Given the description of an element on the screen output the (x, y) to click on. 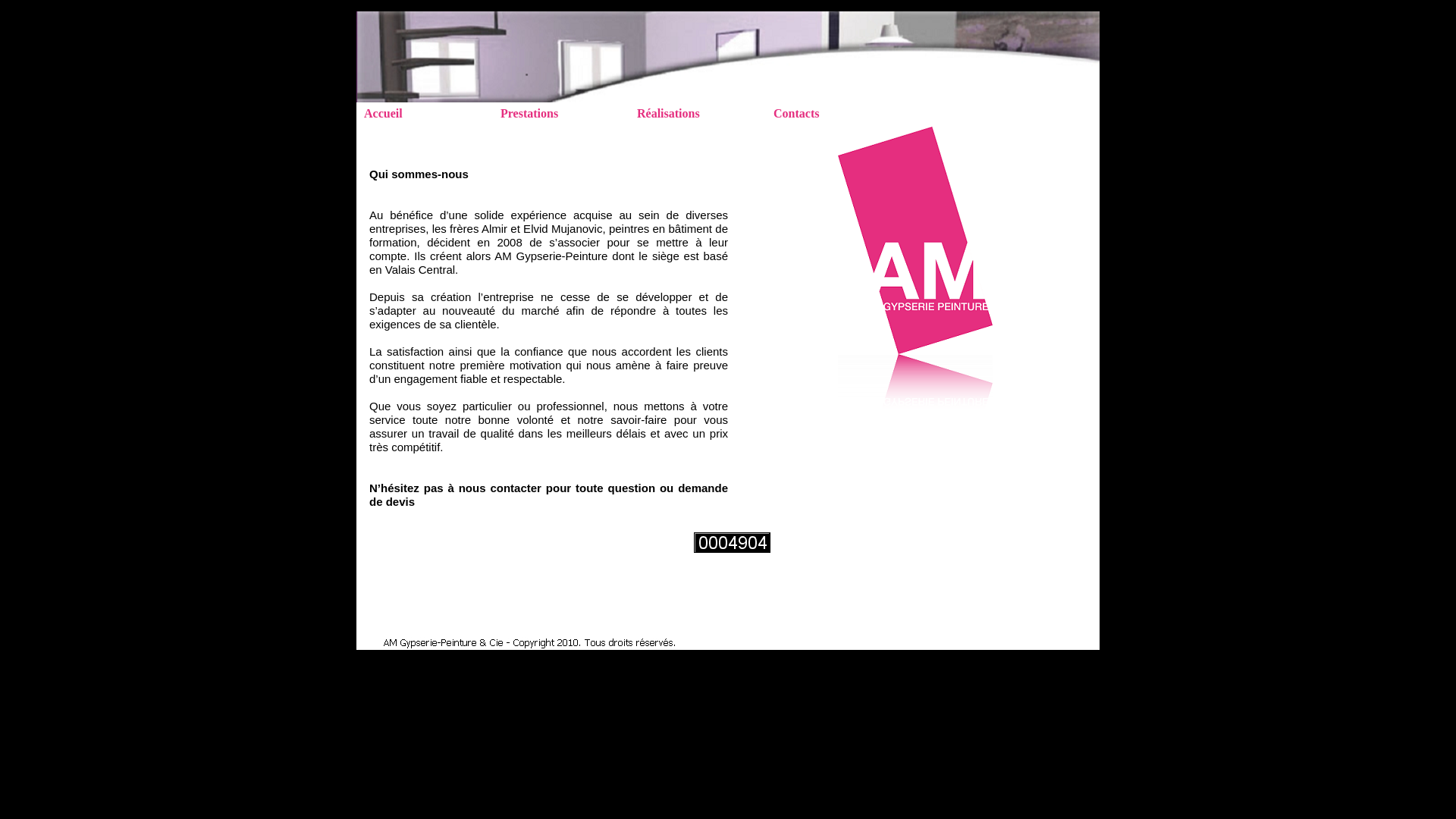
Prestations Element type: text (566, 113)
Accueil Element type: text (429, 113)
Contacts Element type: text (839, 113)
